Given the description of an element on the screen output the (x, y) to click on. 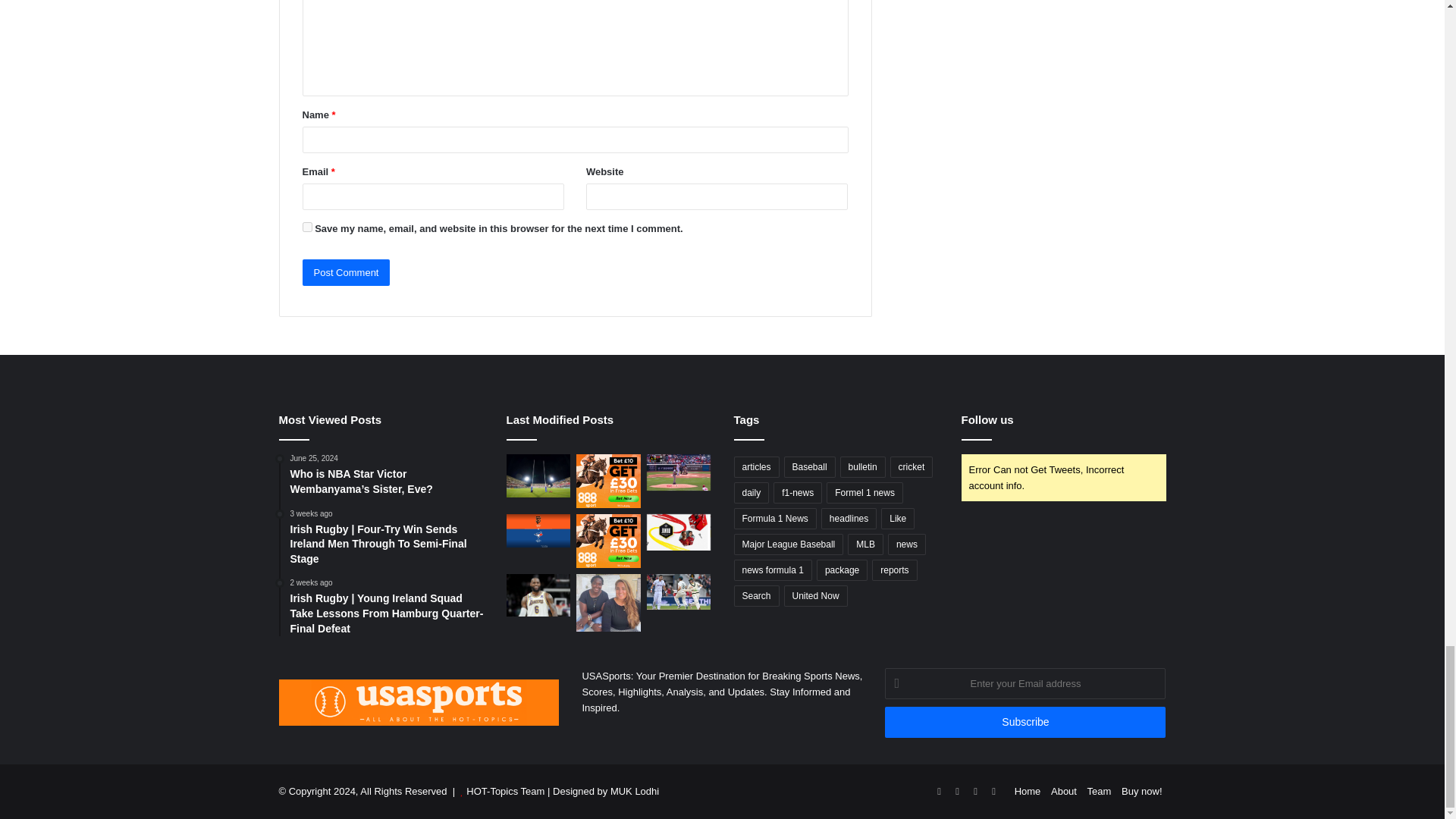
Subscribe (1025, 721)
yes (306, 226)
Post Comment (345, 272)
